Given the description of an element on the screen output the (x, y) to click on. 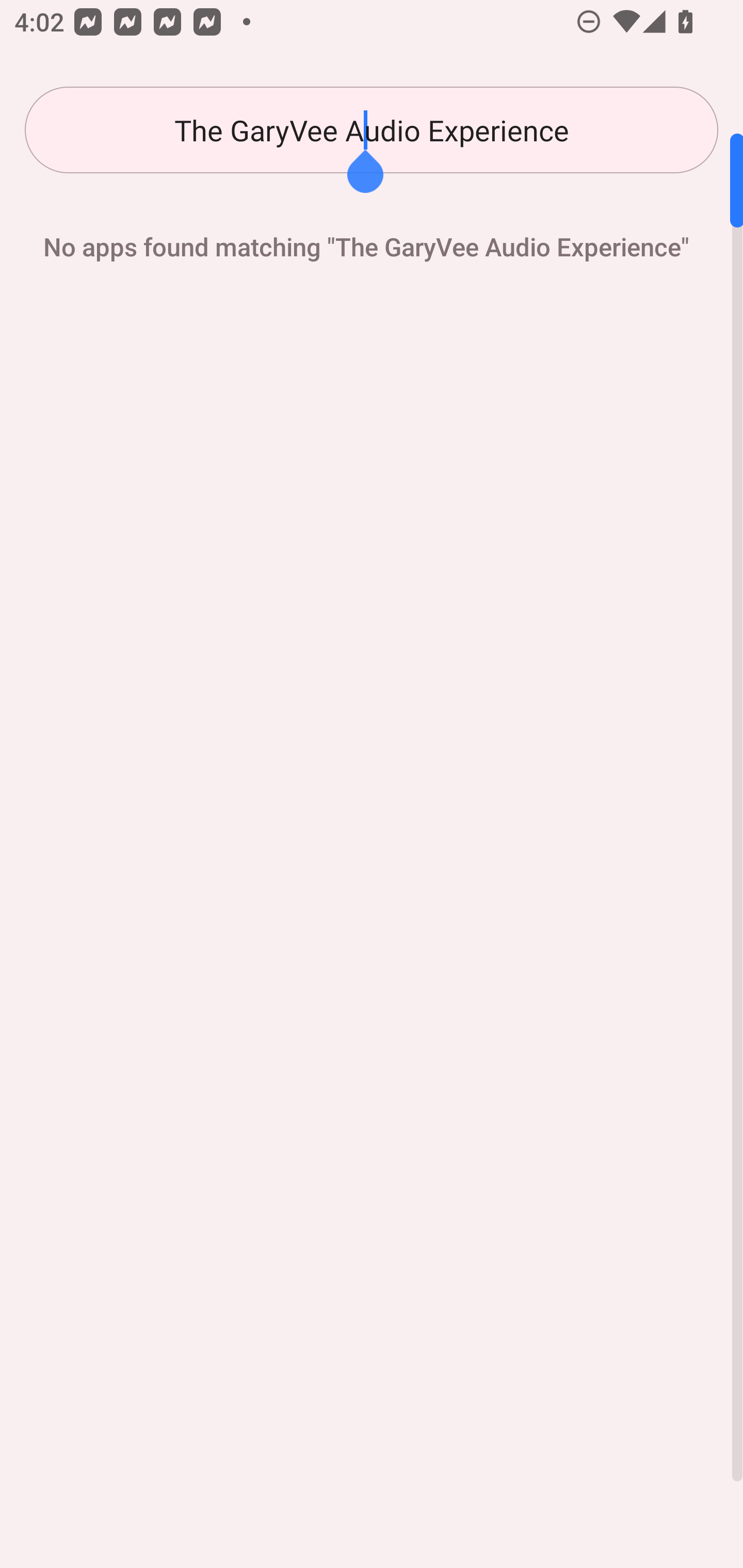
The GaryVee Audio Experience (371, 130)
